Given the description of an element on the screen output the (x, y) to click on. 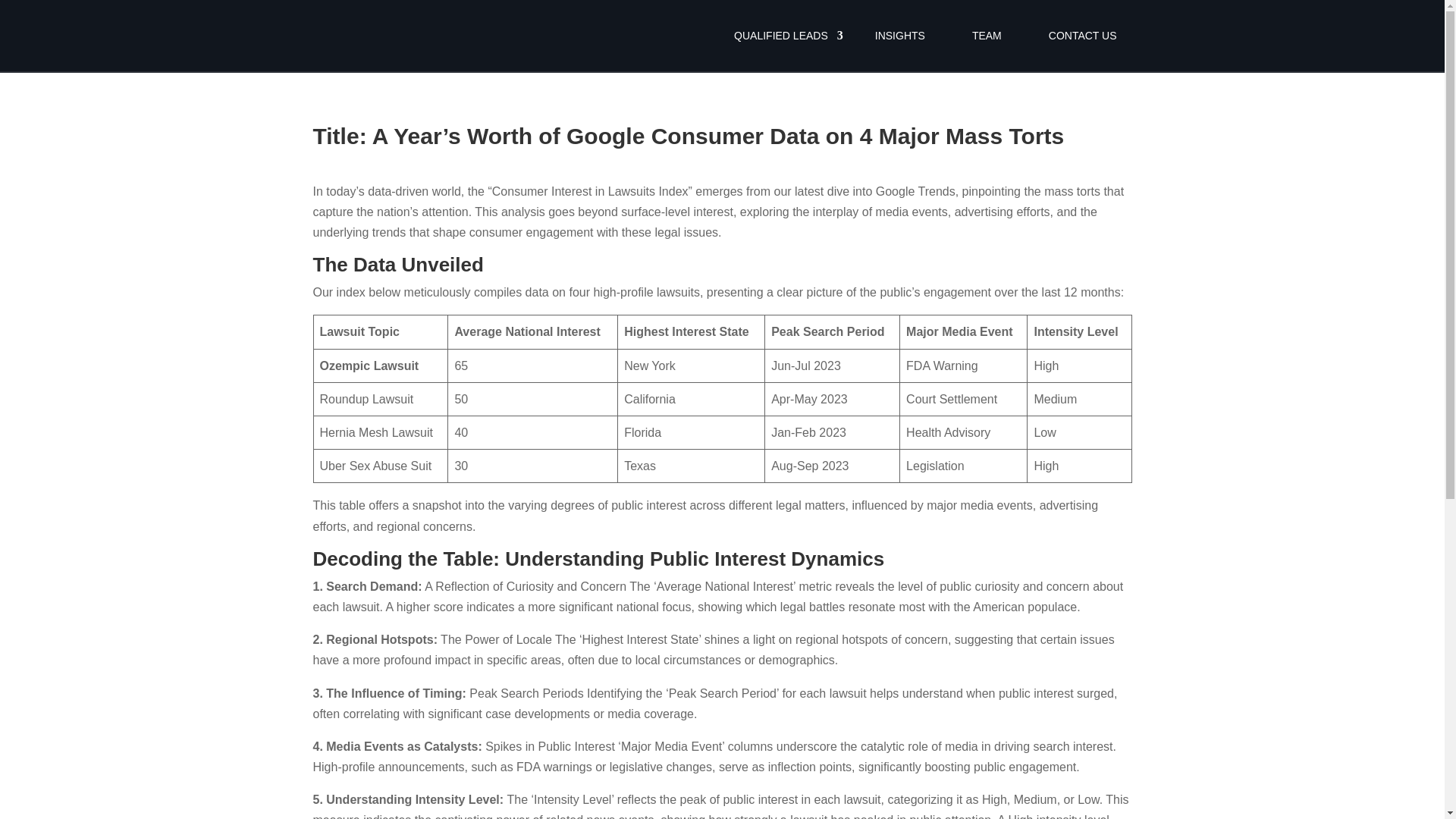
CONTACT US (1082, 35)
QUALIFIED LEADS (781, 35)
INSIGHTS (900, 35)
TEAM (986, 35)
